Given the description of an element on the screen output the (x, y) to click on. 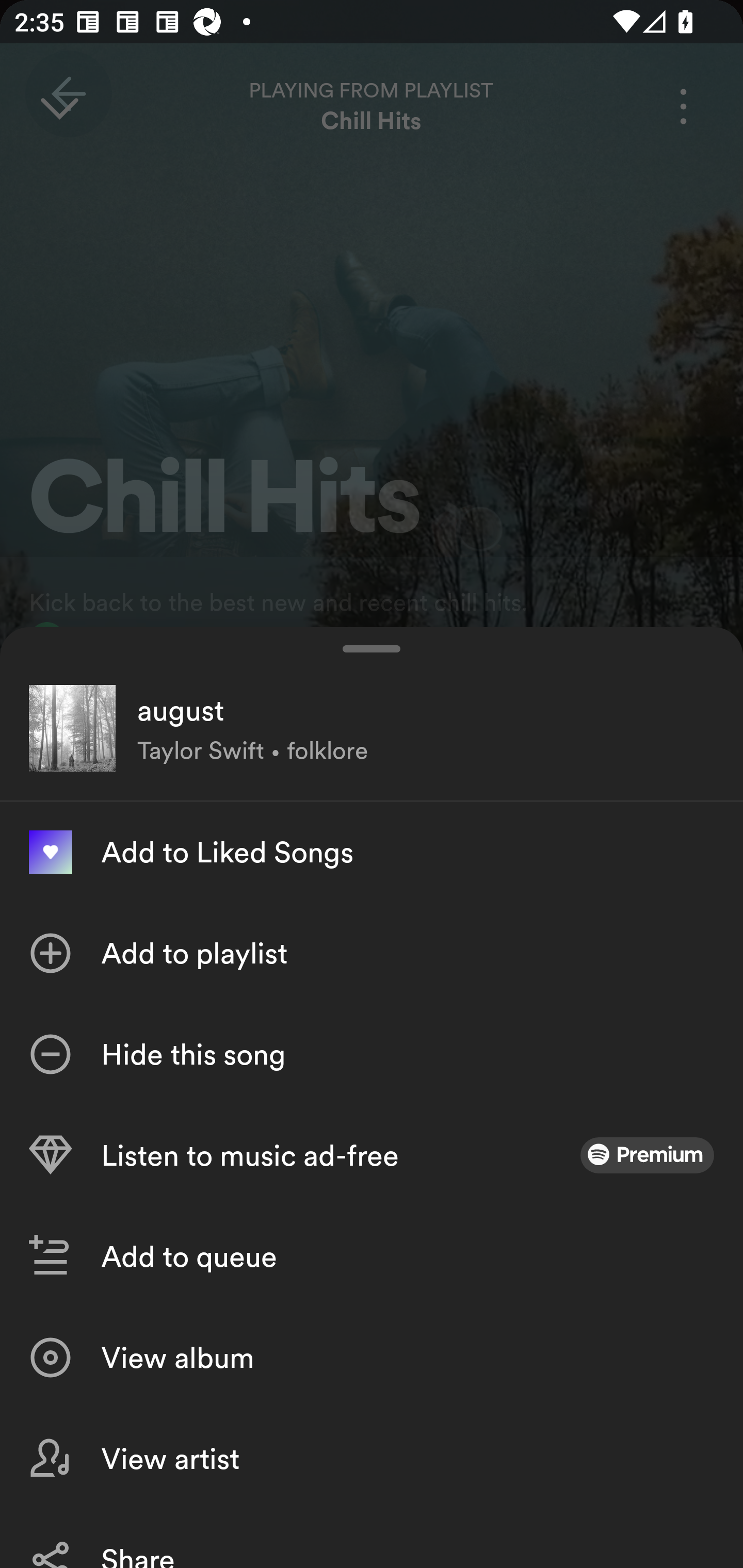
Add to Liked Songs (371, 852)
Add to playlist (371, 953)
Hide this song (371, 1054)
Listen to music ad-free (371, 1155)
Add to queue (371, 1256)
View album (371, 1357)
View artist (371, 1458)
Share (371, 1538)
